Given the description of an element on the screen output the (x, y) to click on. 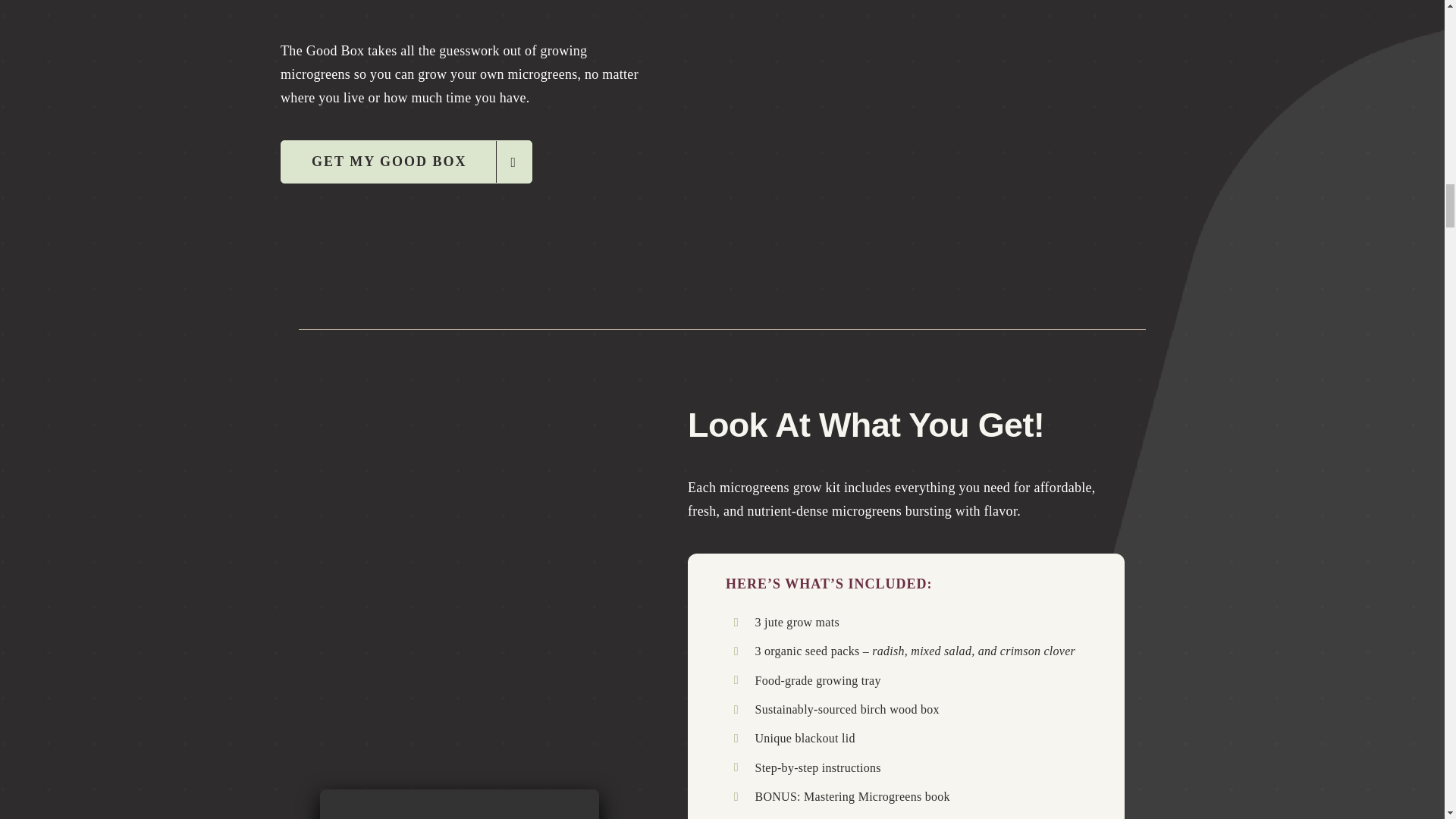
GET MY GOOD BOX (406, 161)
